Given the description of an element on the screen output the (x, y) to click on. 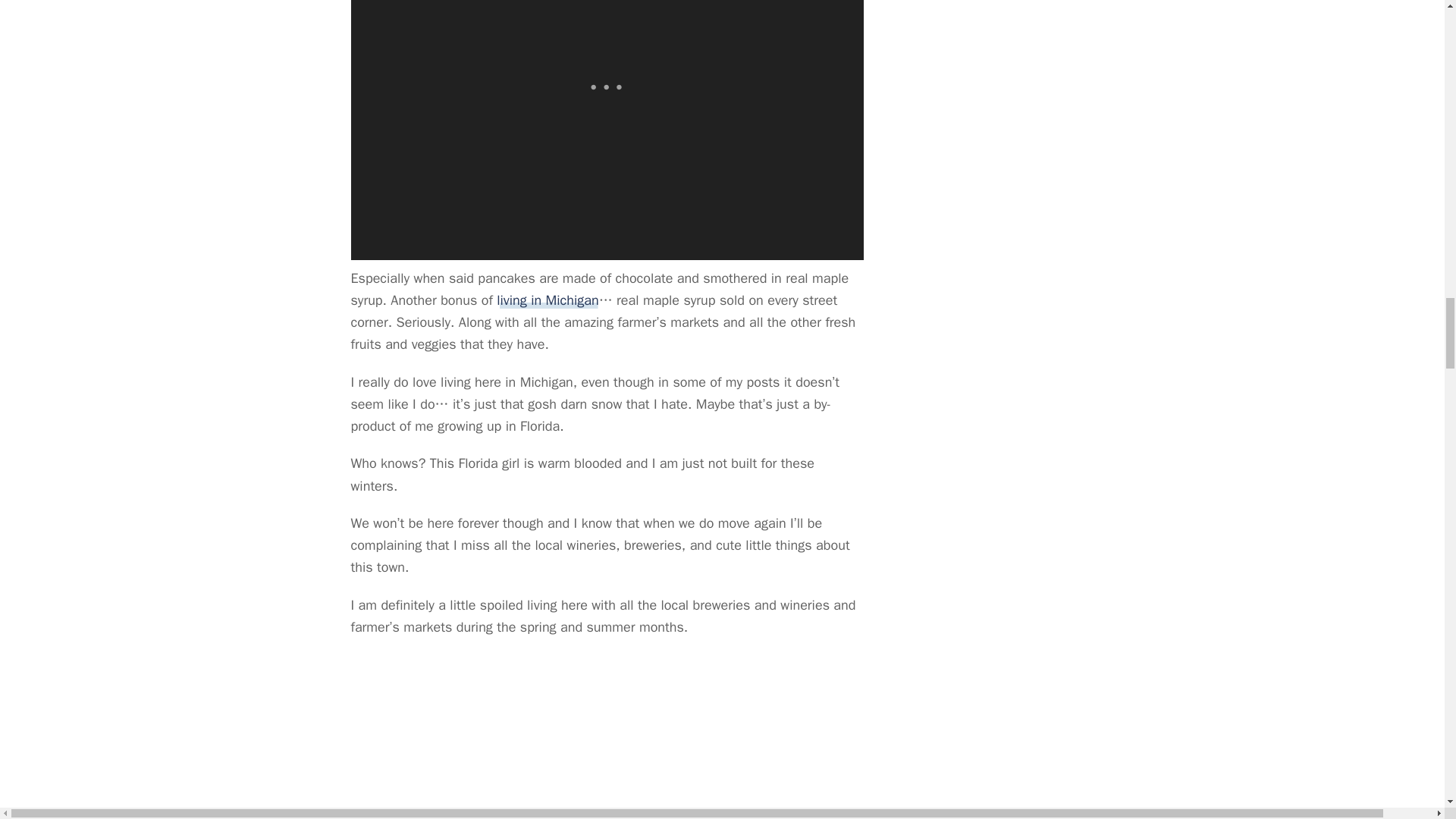
Chocolate French Silk Pancakes 3 (607, 736)
